Given the description of an element on the screen output the (x, y) to click on. 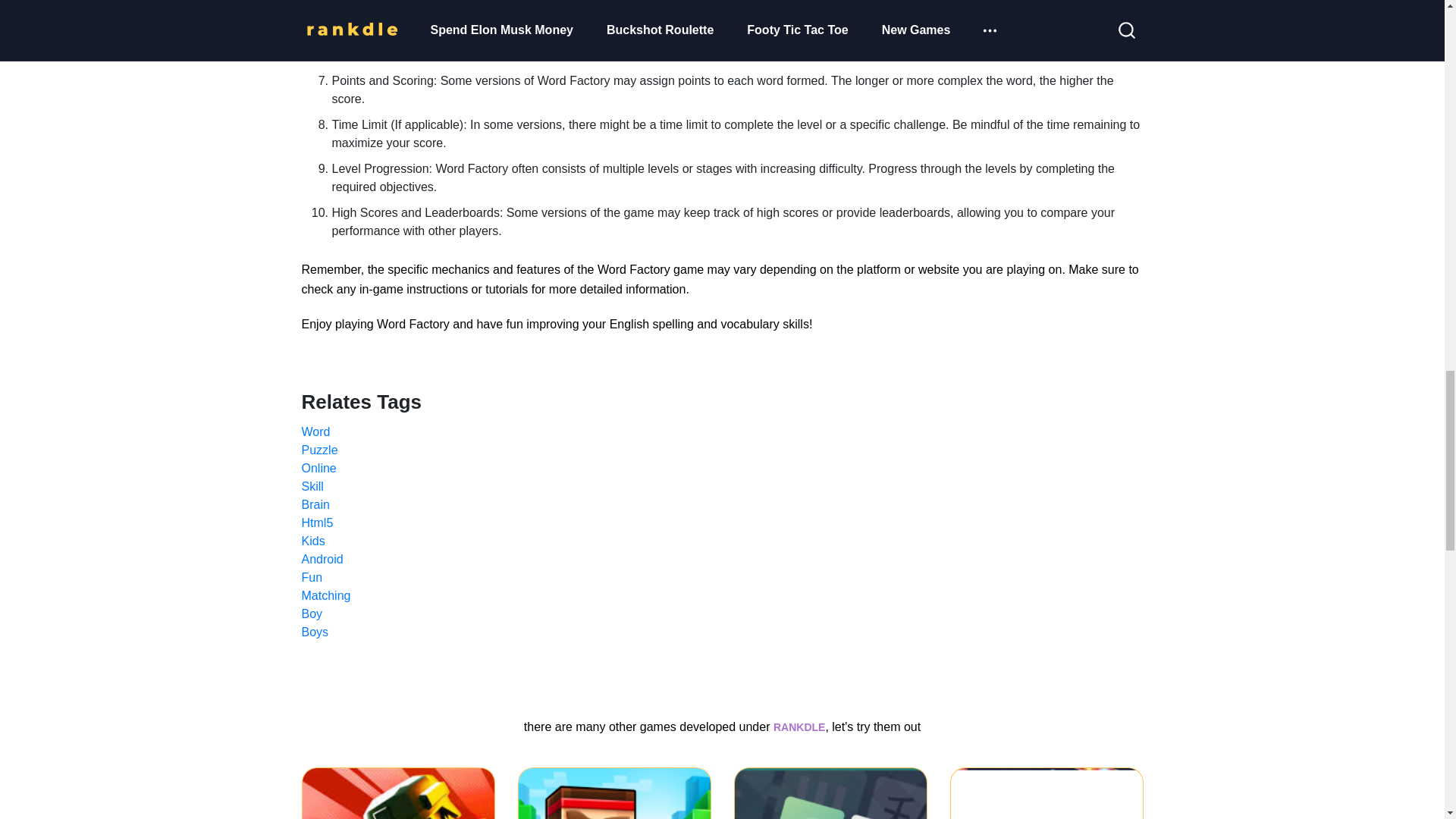
Kour io (398, 793)
Android (721, 559)
Boys (721, 632)
Matching (721, 596)
Words Challenge (830, 793)
Pixel Gun 3D (613, 793)
Who wants to be a Murderer (1045, 793)
Brain (721, 505)
Fun (721, 577)
Html5 (721, 523)
